Given the description of an element on the screen output the (x, y) to click on. 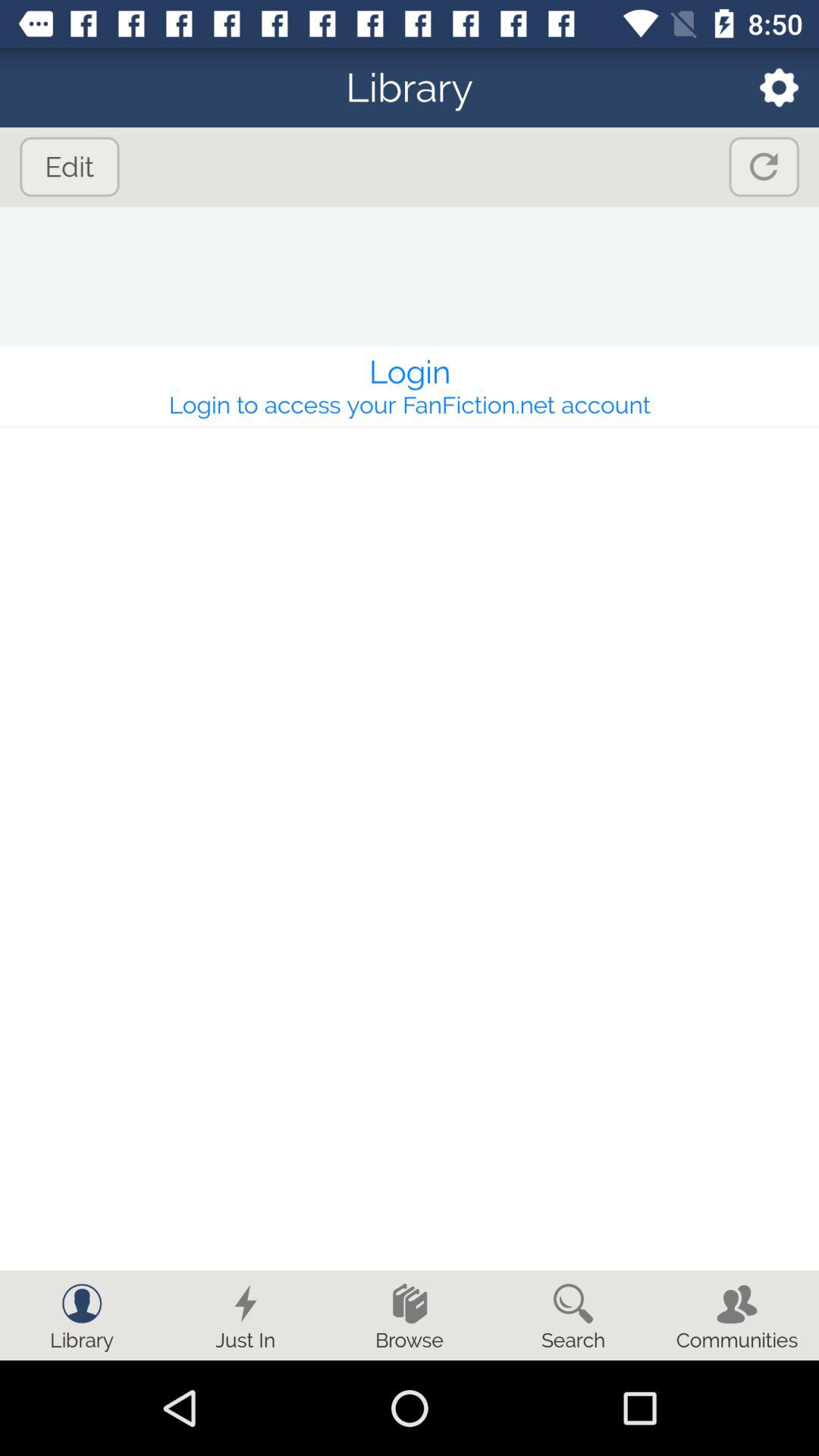
choose the icon next to the library icon (769, 87)
